Given the description of an element on the screen output the (x, y) to click on. 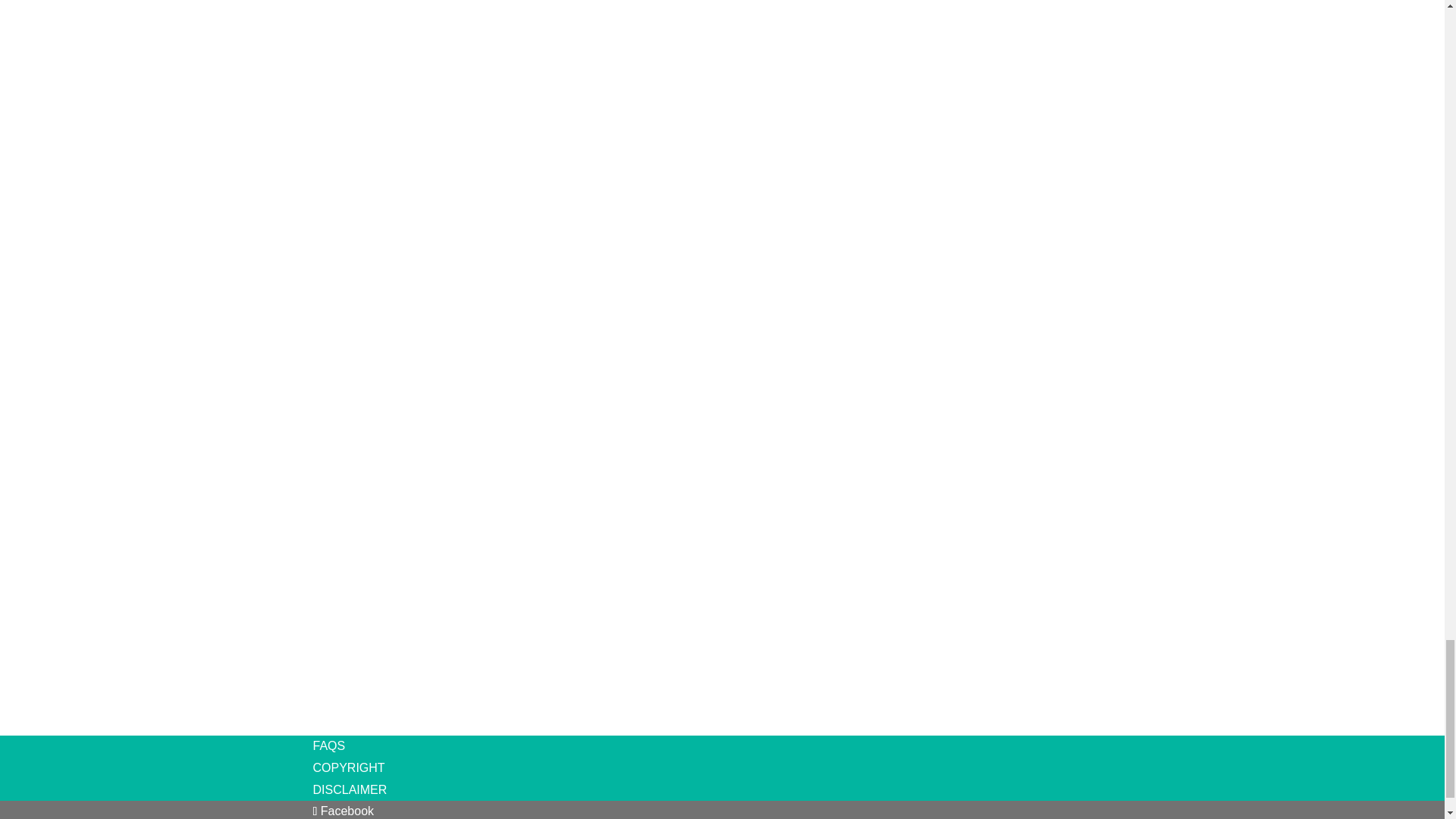
Facebook (343, 810)
DISCLAIMER (350, 789)
COPYRIGHT (348, 767)
FAQS (329, 745)
